Given the description of an element on the screen output the (x, y) to click on. 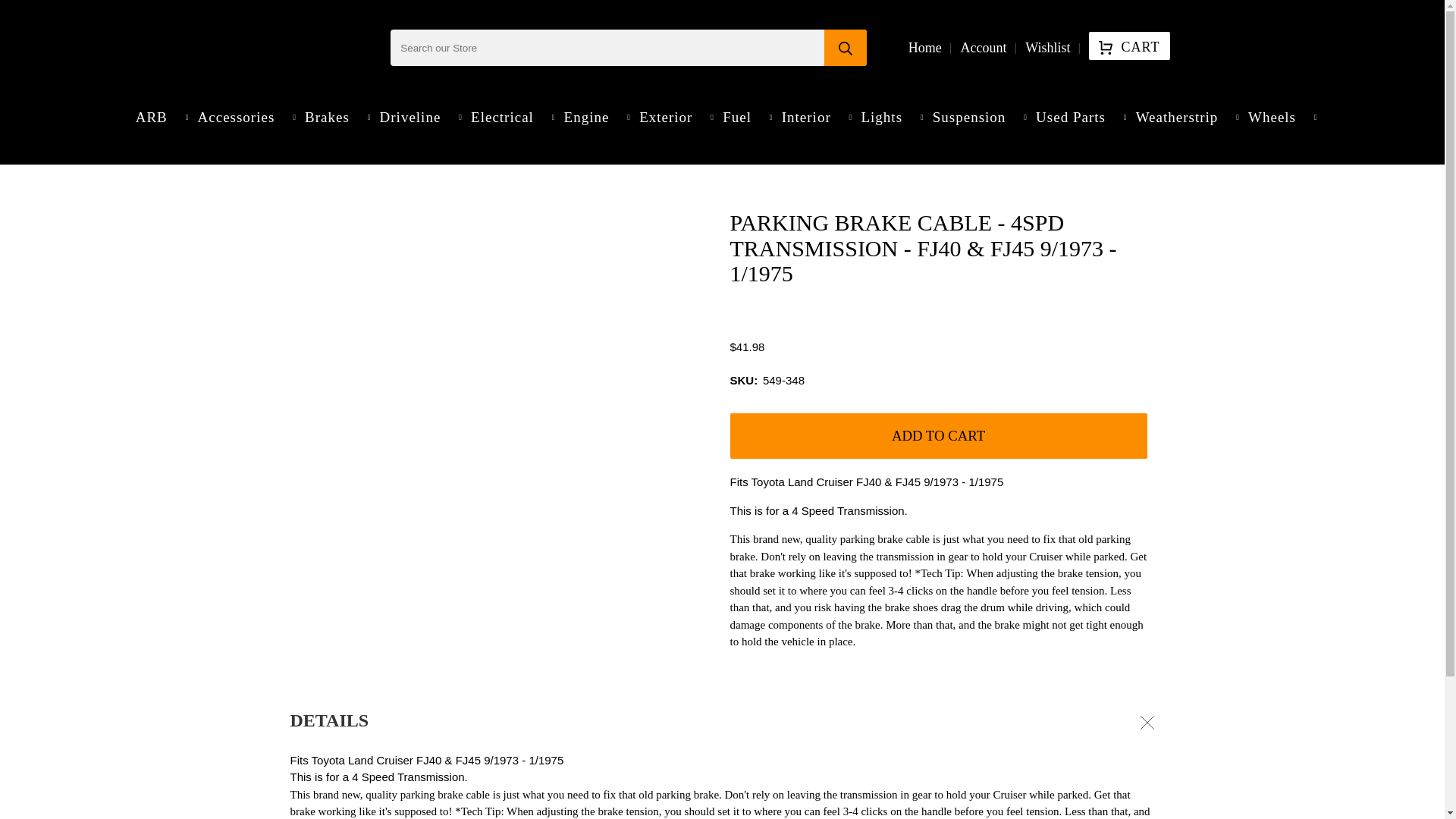
ARB (157, 116)
Home (924, 47)
Brakes (334, 116)
Account (983, 47)
Cruiser Corps (321, 47)
Accessories (243, 116)
CART (1129, 45)
Driveline (417, 116)
Wishlist (1048, 47)
